Given the description of an element on the screen output the (x, y) to click on. 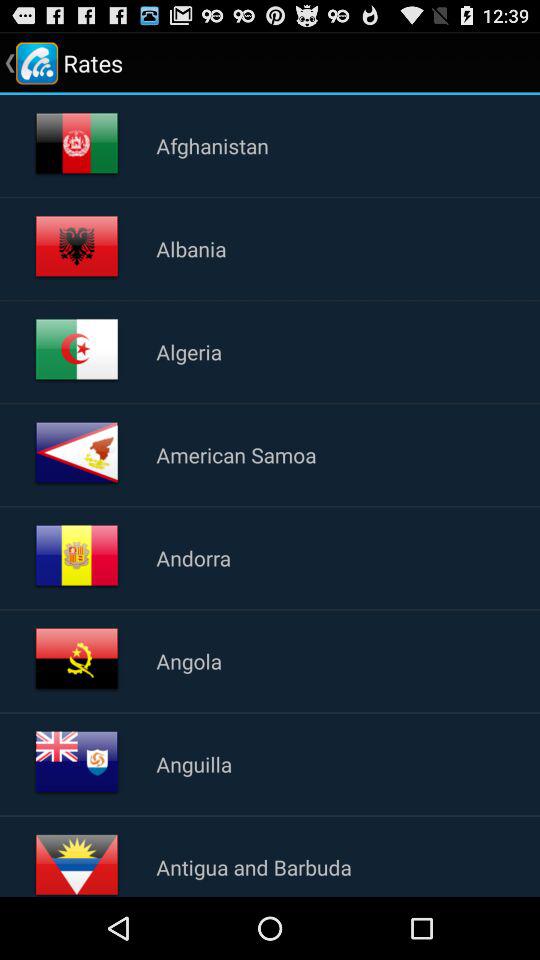
click app above angola icon (193, 557)
